Given the description of an element on the screen output the (x, y) to click on. 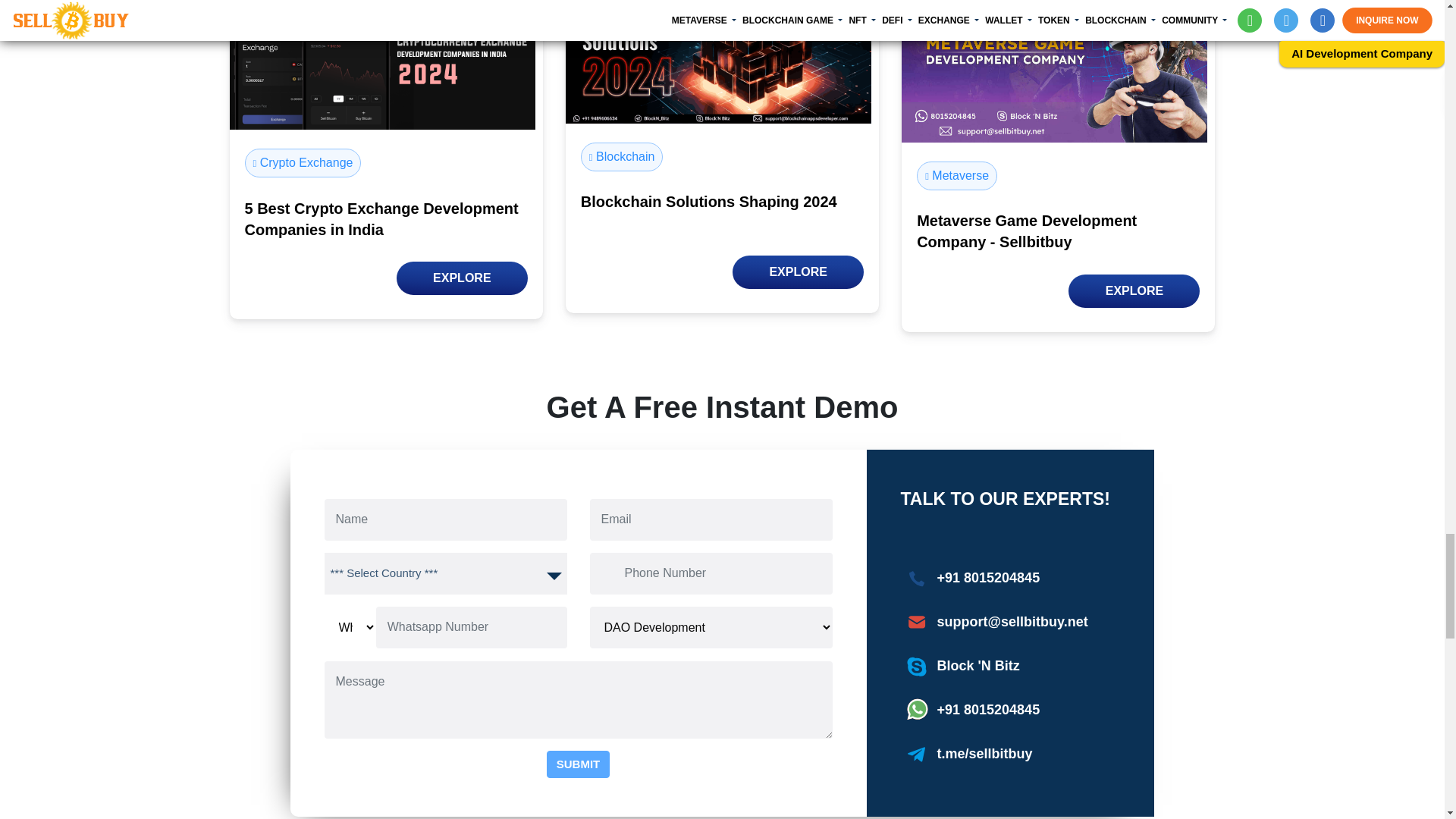
Blockchain Solutions Shaping 2024 (718, 61)
5 Best Crypto Exchange Development Companies in India (381, 64)
Metaverse Game Development Company - Sellbitbuy (1054, 71)
